Given the description of an element on the screen output the (x, y) to click on. 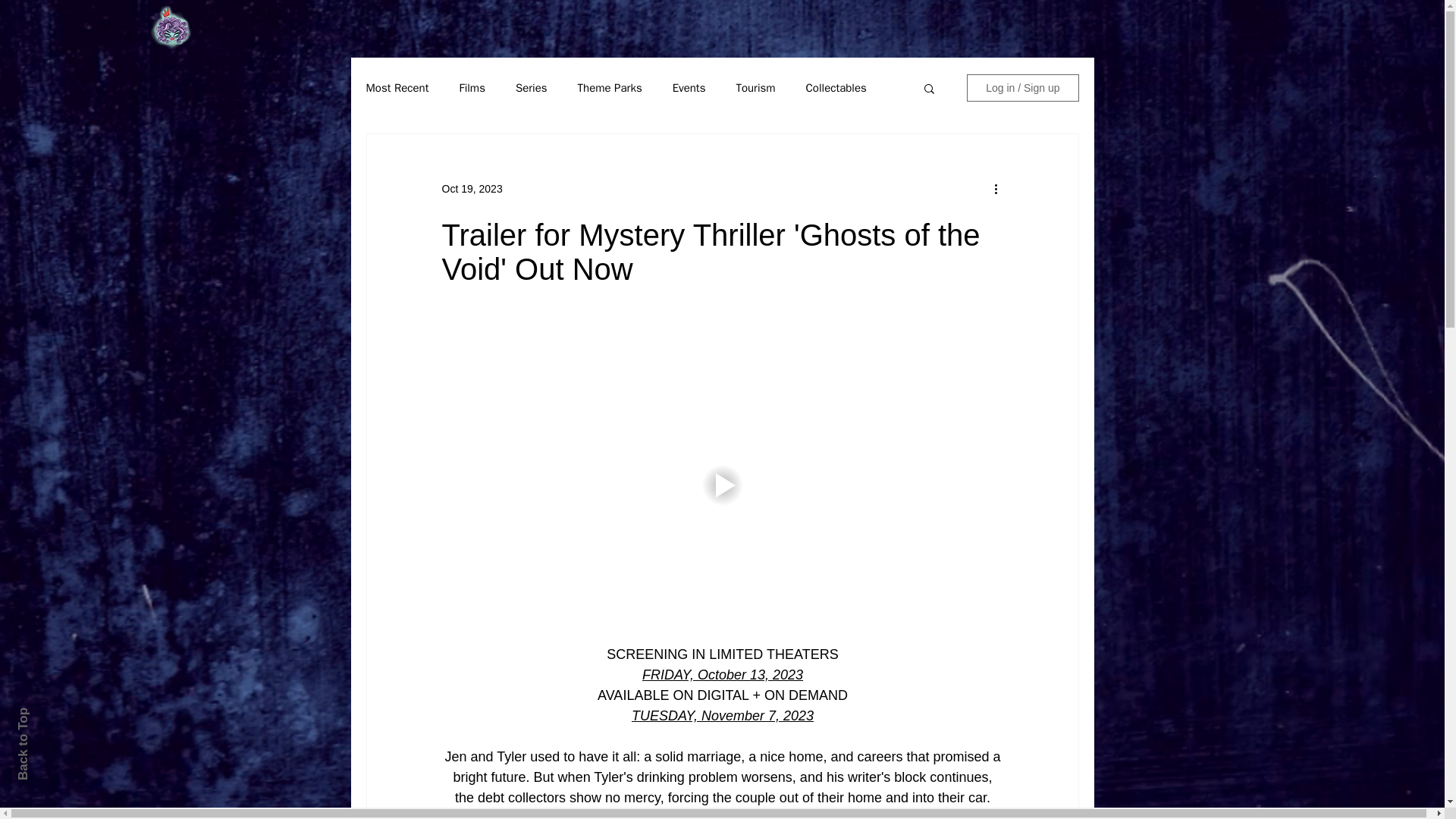
Most Recent (396, 87)
Tourism (754, 87)
Films (471, 87)
Collectables (836, 87)
Events (689, 87)
Series (531, 87)
Oct 19, 2023 (471, 187)
Theme Parks (610, 87)
